Given the description of an element on the screen output the (x, y) to click on. 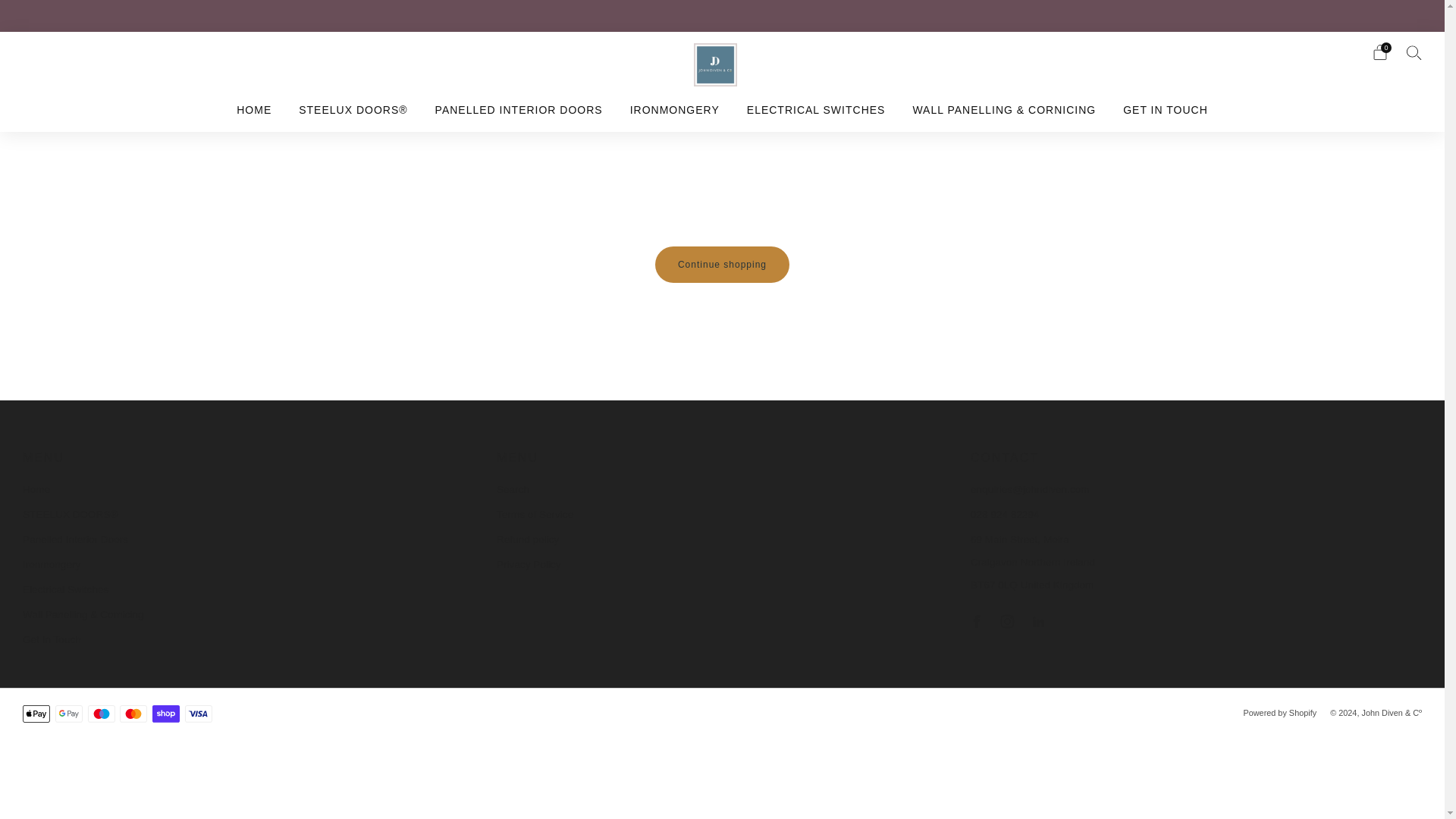
IRONMONGERY (674, 109)
PANELLED INTERIOR DOORS (518, 109)
GET IN TOUCH (1165, 109)
ELECTRICAL SWITCHES (815, 109)
0 (1380, 52)
HOME (252, 109)
